Given the description of an element on the screen output the (x, y) to click on. 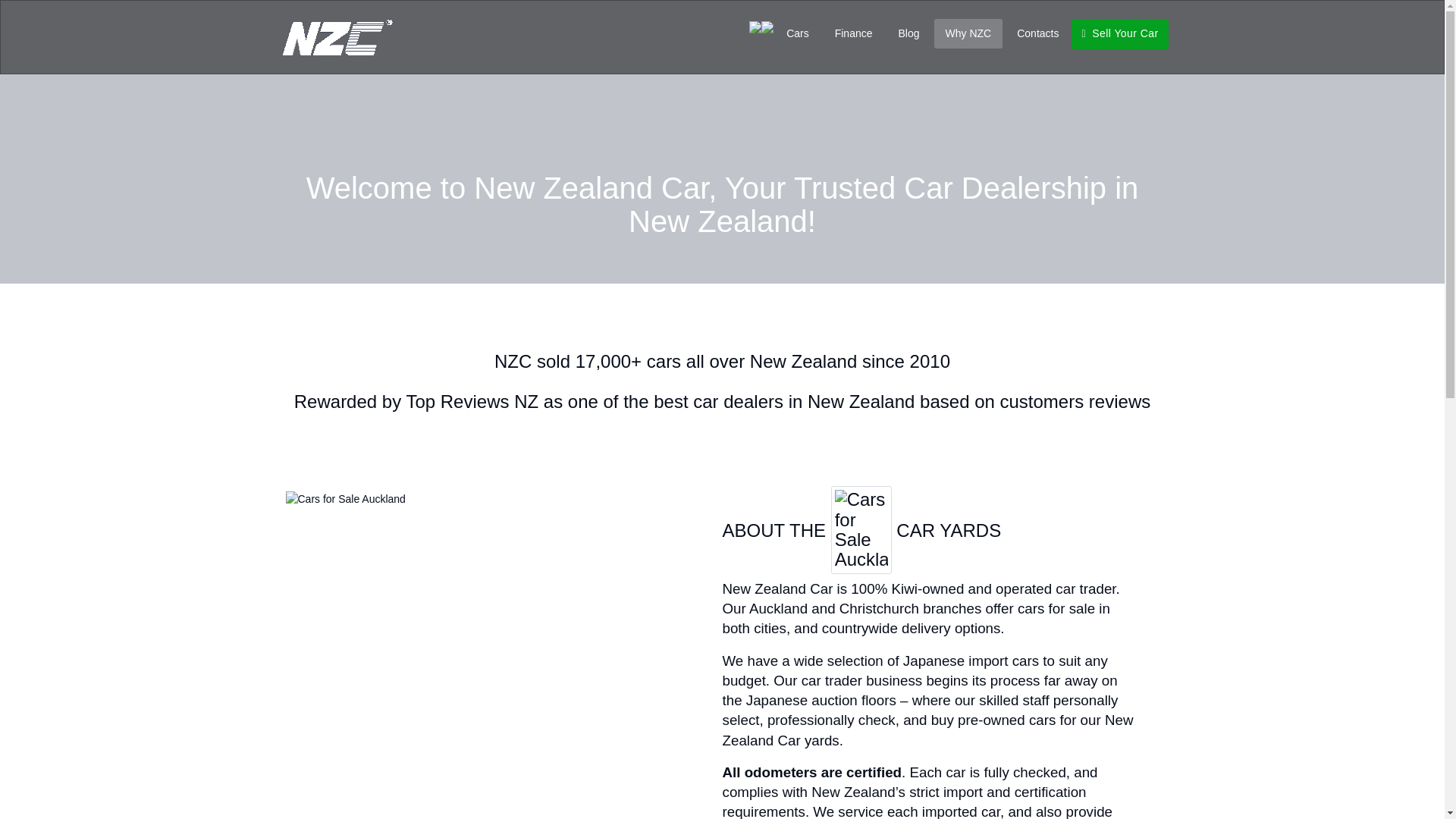
Finance (853, 33)
Cars (797, 33)
Blog (908, 33)
Why NZC (968, 33)
Sell Your Car (1119, 33)
Contacts (1038, 33)
